Given the description of an element on the screen output the (x, y) to click on. 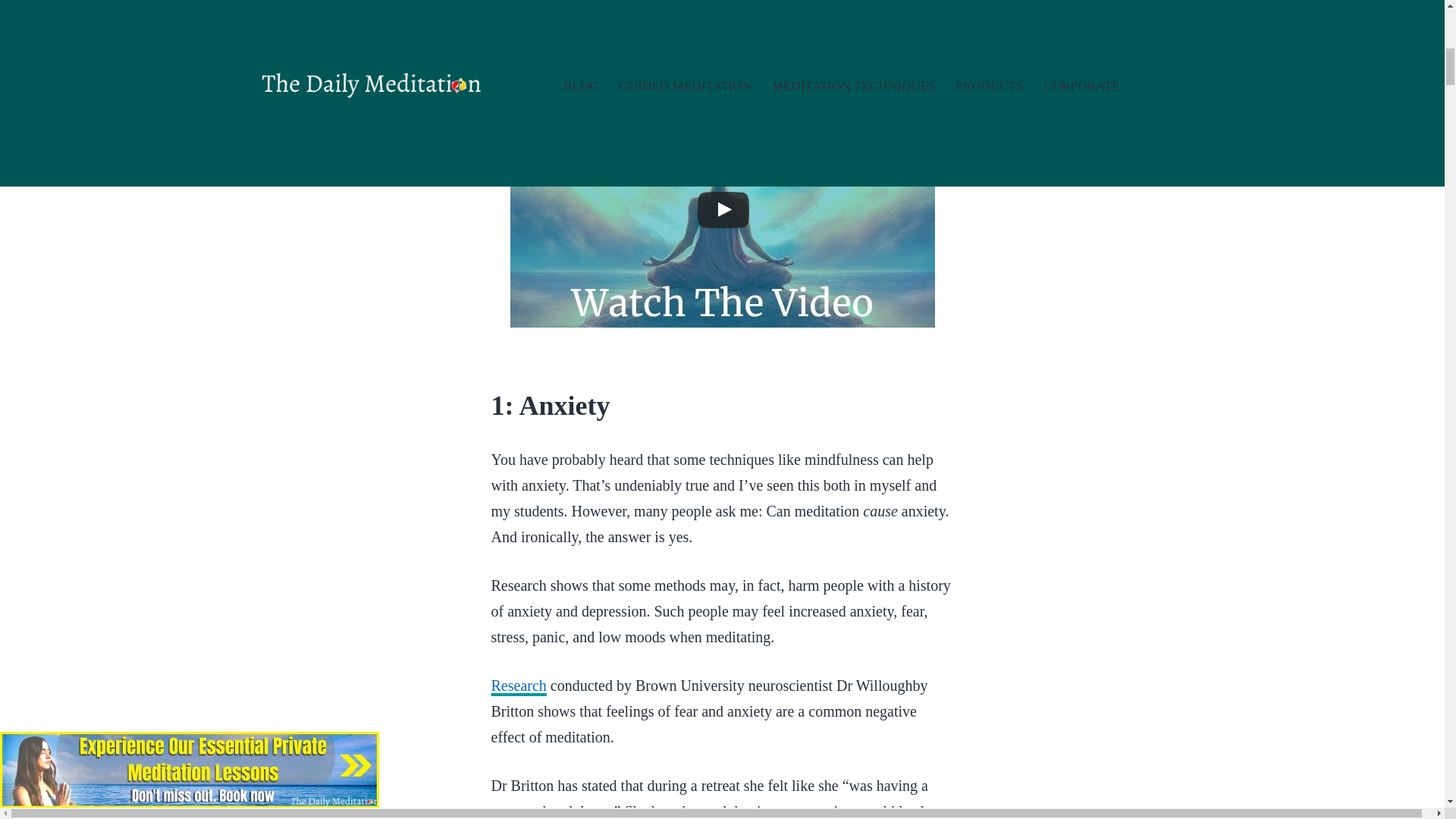
Research (519, 685)
